Given the description of an element on the screen output the (x, y) to click on. 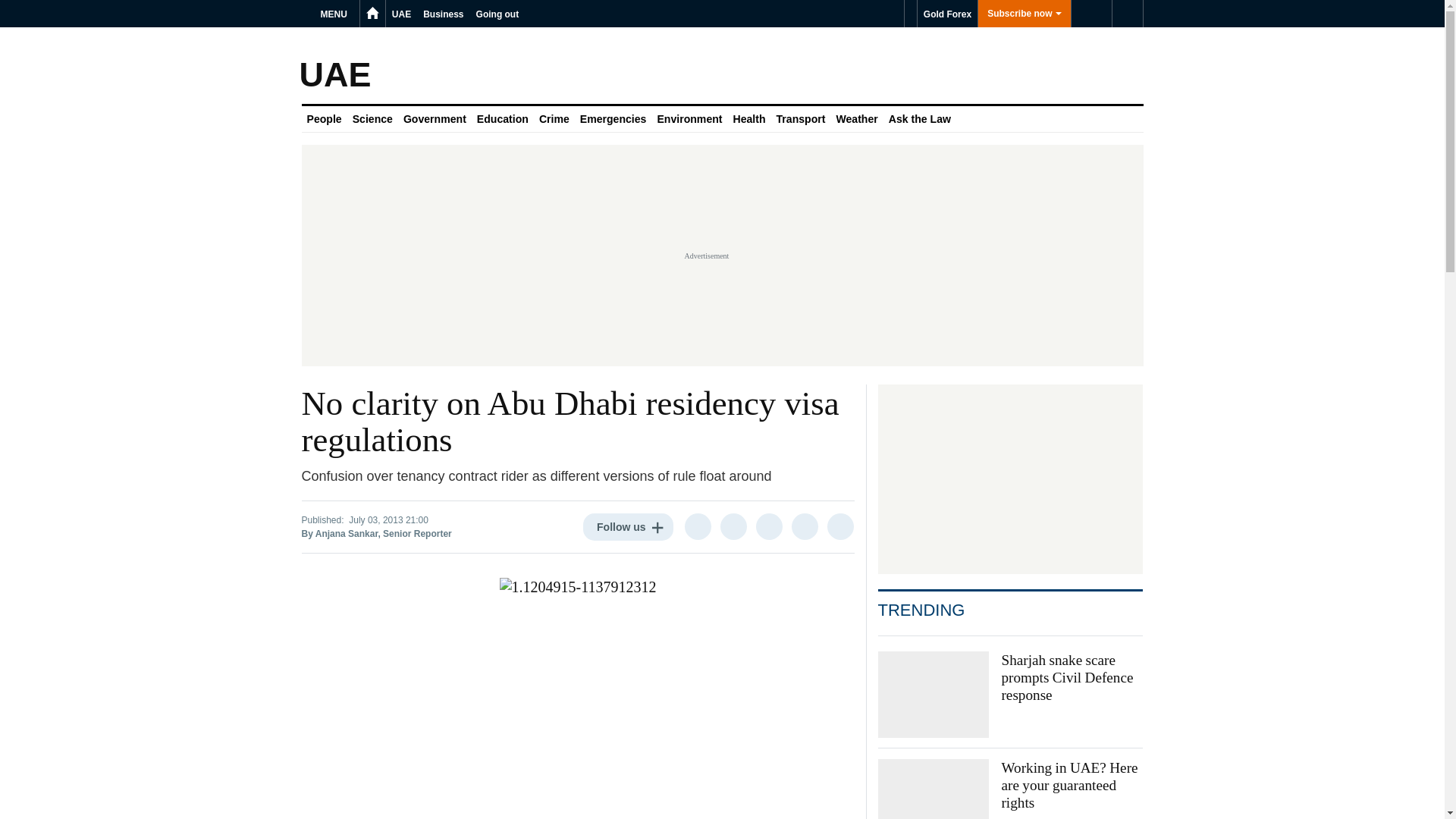
Subscribe now (1024, 13)
Business (442, 13)
UAE (400, 13)
MENU (336, 13)
Gold Forex (946, 13)
Going out (497, 13)
